Given the description of an element on the screen output the (x, y) to click on. 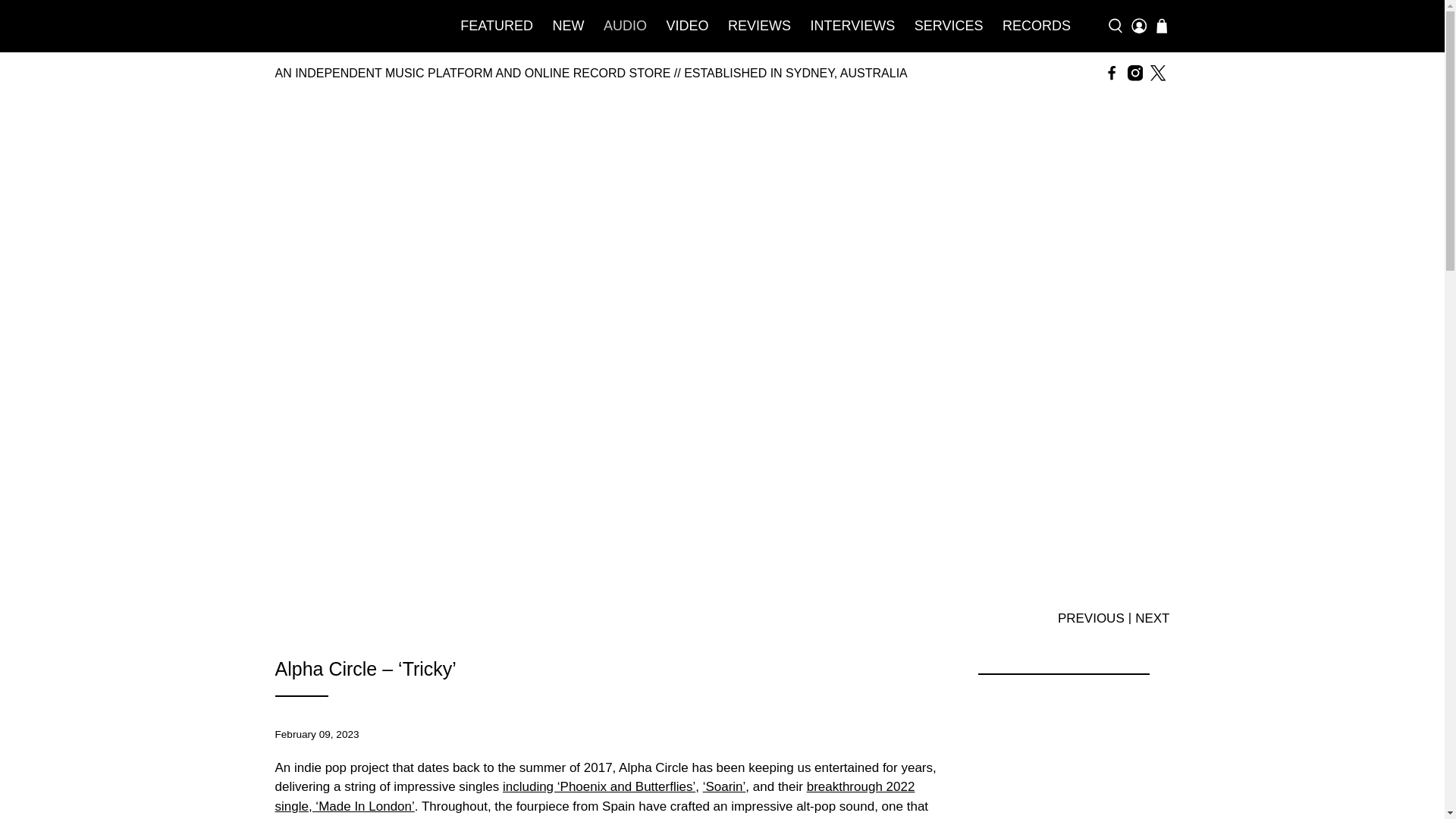
BROKEN 8 RECORDS on Instagram (1134, 72)
BROKEN 8 RECORDS on Facebook (1111, 72)
NEW (568, 26)
Advertisement (1062, 754)
FEATURED (497, 26)
Next (1152, 617)
SERVICES (948, 26)
Previous (1091, 617)
INTERVIEWS (852, 26)
BROKEN 8 RECORDS (349, 26)
